Given the description of an element on the screen output the (x, y) to click on. 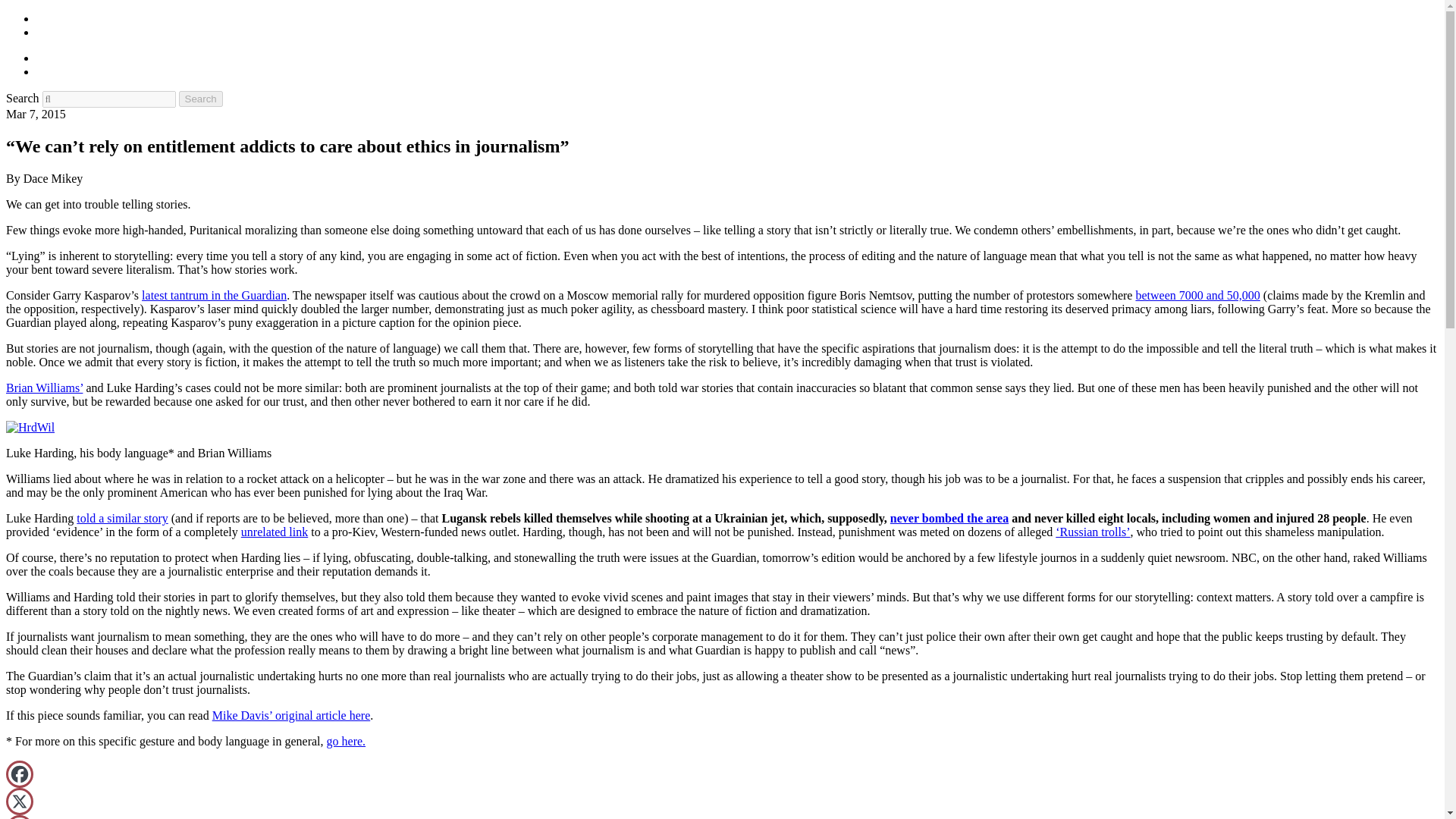
latest tantrum in the Guardian (213, 295)
between 7000 and 50,000 (1197, 295)
go here. (346, 740)
told a similar story (122, 517)
Reddit (19, 816)
Search (200, 98)
Search (200, 98)
unrelated link (274, 531)
Facebook (19, 773)
X (19, 800)
never bombed the area (949, 517)
